Given the description of an element on the screen output the (x, y) to click on. 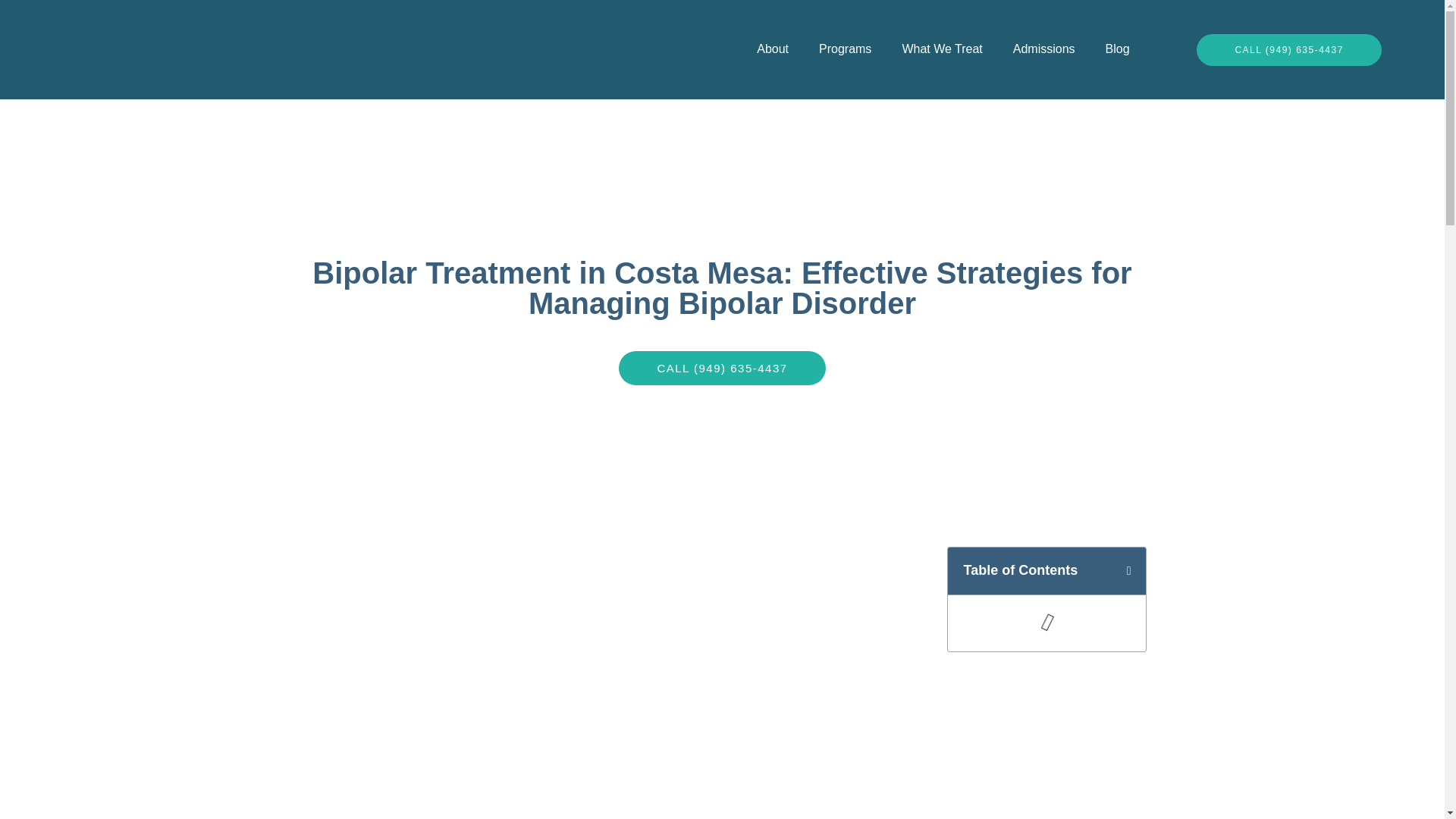
Blog (1117, 48)
Admissions (1043, 48)
What We Treat (941, 48)
About (772, 48)
Programs (844, 48)
